Given the description of an element on the screen output the (x, y) to click on. 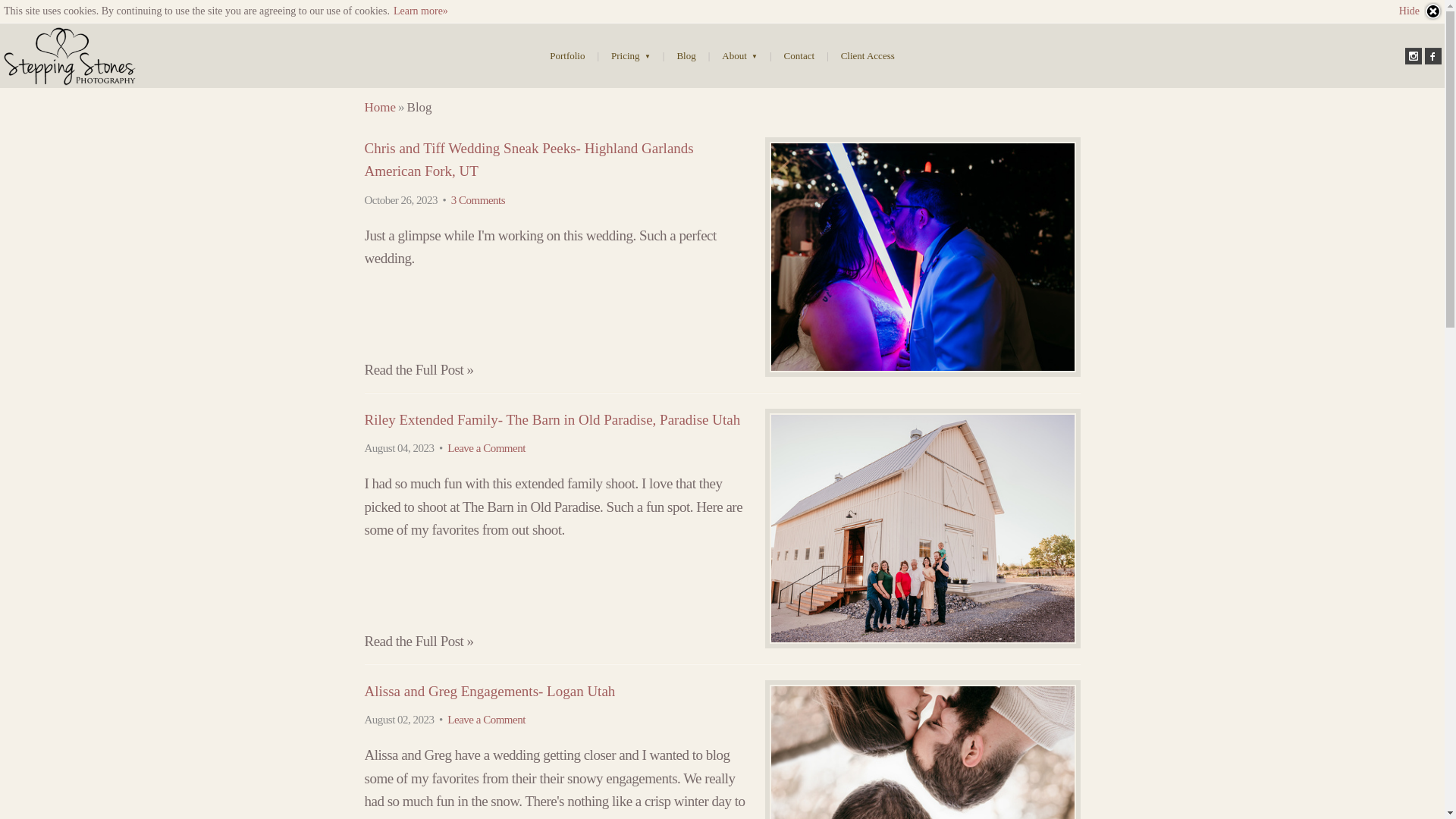
Stepping Stones Photography (69, 56)
Stepping Stones Photography (380, 106)
Leave a Comment (485, 719)
Hide (1420, 11)
Leave a Comment (485, 448)
3 Comments (478, 200)
Blog (685, 55)
Contact (799, 55)
Portfolio (567, 55)
